Given the description of an element on the screen output the (x, y) to click on. 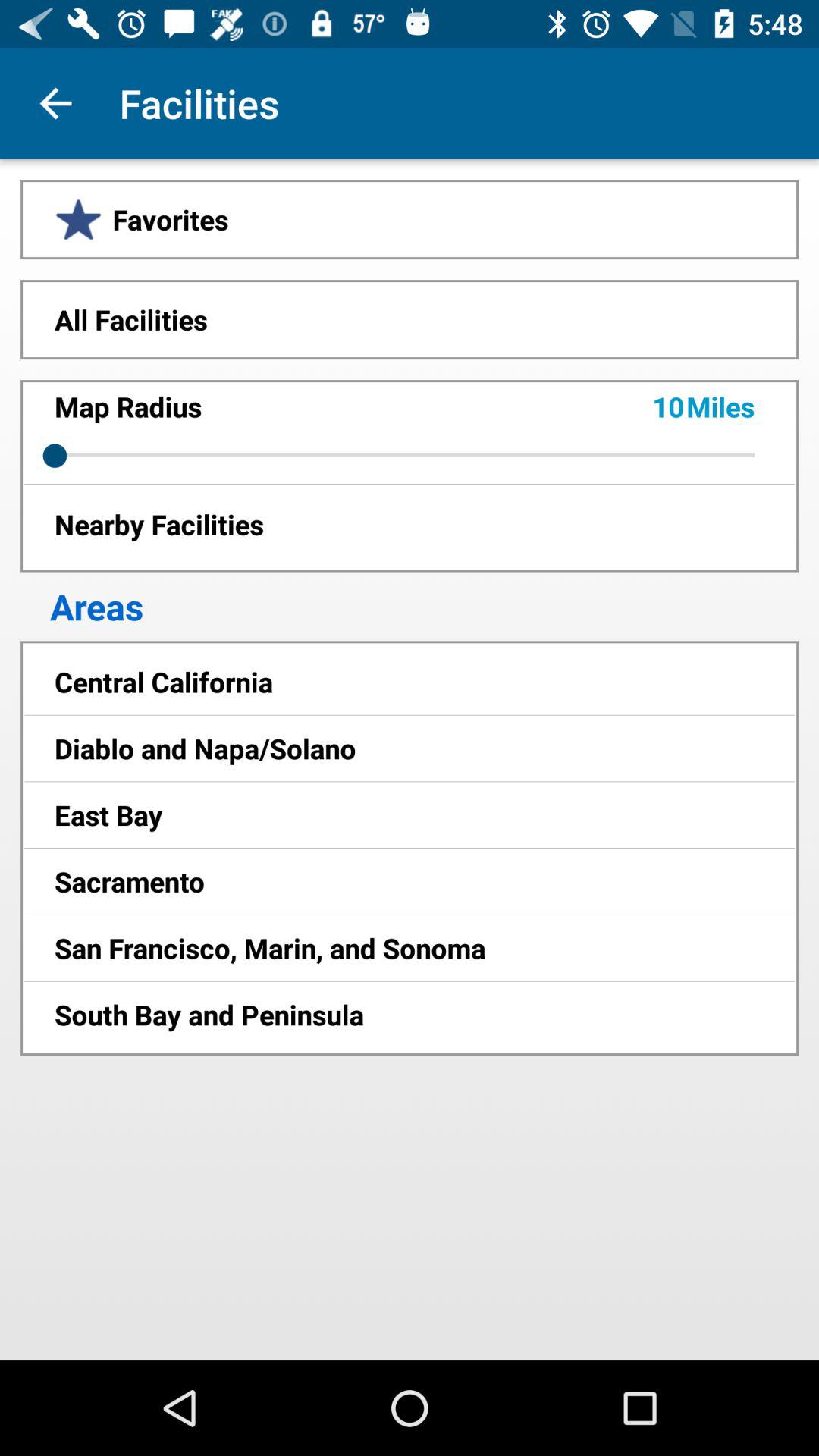
press item to the left of the facilities app (55, 103)
